Given the description of an element on the screen output the (x, y) to click on. 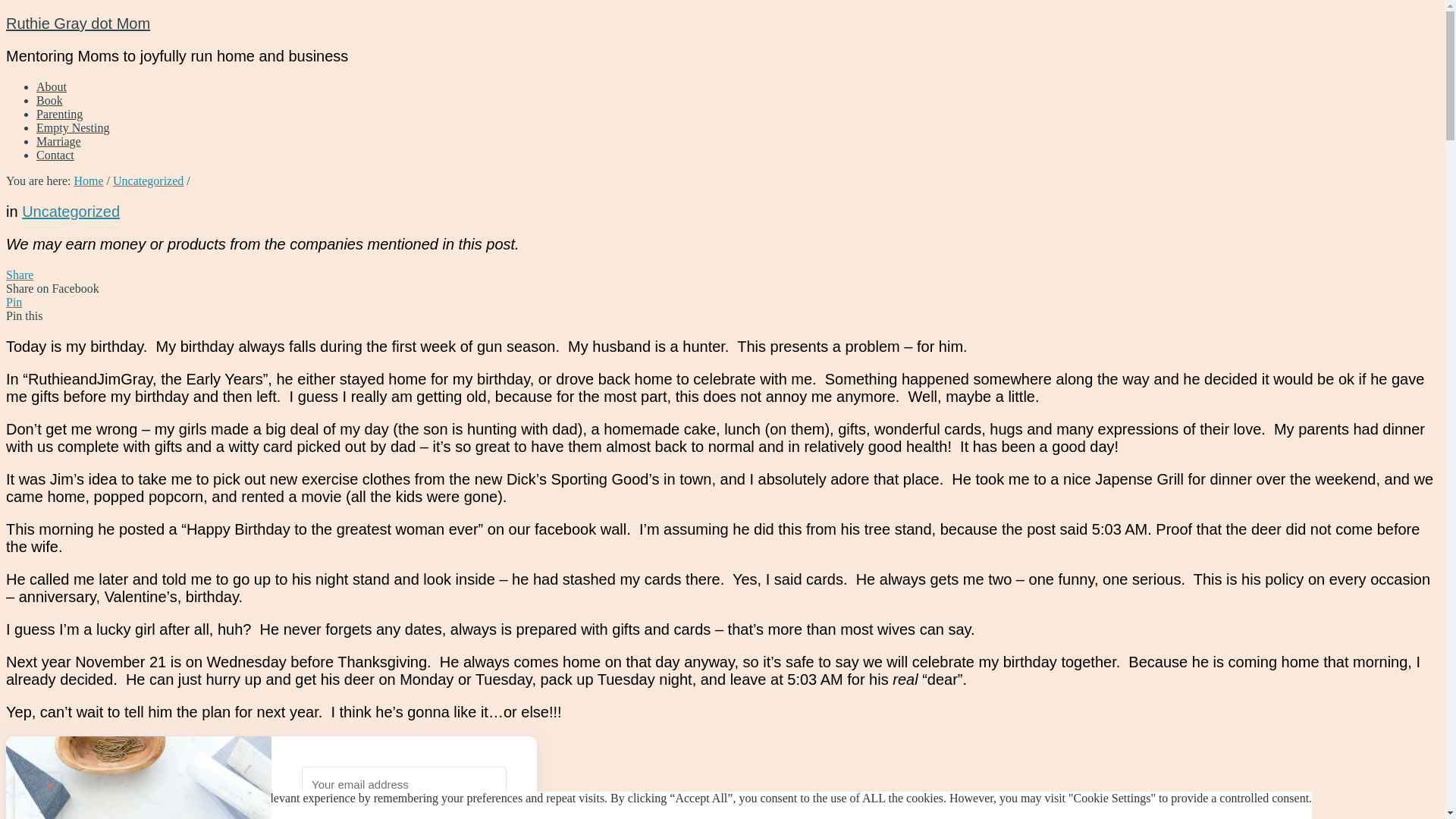
Home (88, 180)
Share (19, 274)
Uncategorized (148, 180)
Pin (13, 301)
About (51, 86)
Uncategorized (70, 211)
Parenting (59, 113)
Contact (55, 154)
Empty Nesting (72, 127)
Book (49, 100)
Ruthie Gray dot Mom (77, 23)
Marriage (58, 141)
